Given the description of an element on the screen output the (x, y) to click on. 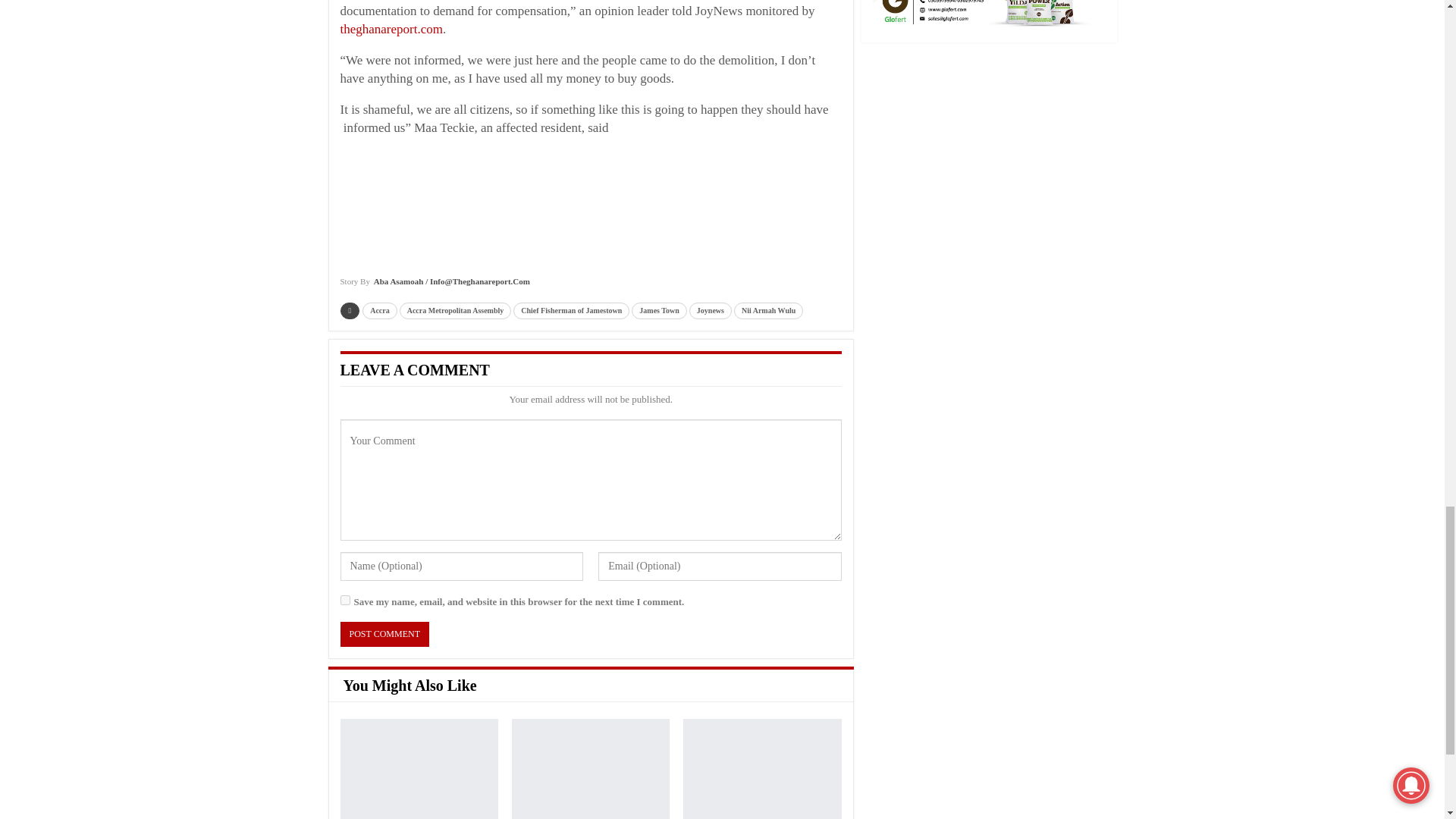
Nii Armah Wulu (768, 310)
Browse Author Articles (434, 286)
Chief Fisherman of Jamestown (570, 310)
Post Comment (383, 634)
IGP congratulates COP Yohuno on his promotion to Deputy IGP (418, 769)
Musket explosion kills JHS student at Wulensi fire festival (590, 769)
Joynews (710, 310)
theghanareport.com (390, 29)
Accra Metropolitan Assembly (455, 310)
James Town (659, 310)
Post Comment (383, 634)
Accra (379, 310)
yes (344, 600)
